Given the description of an element on the screen output the (x, y) to click on. 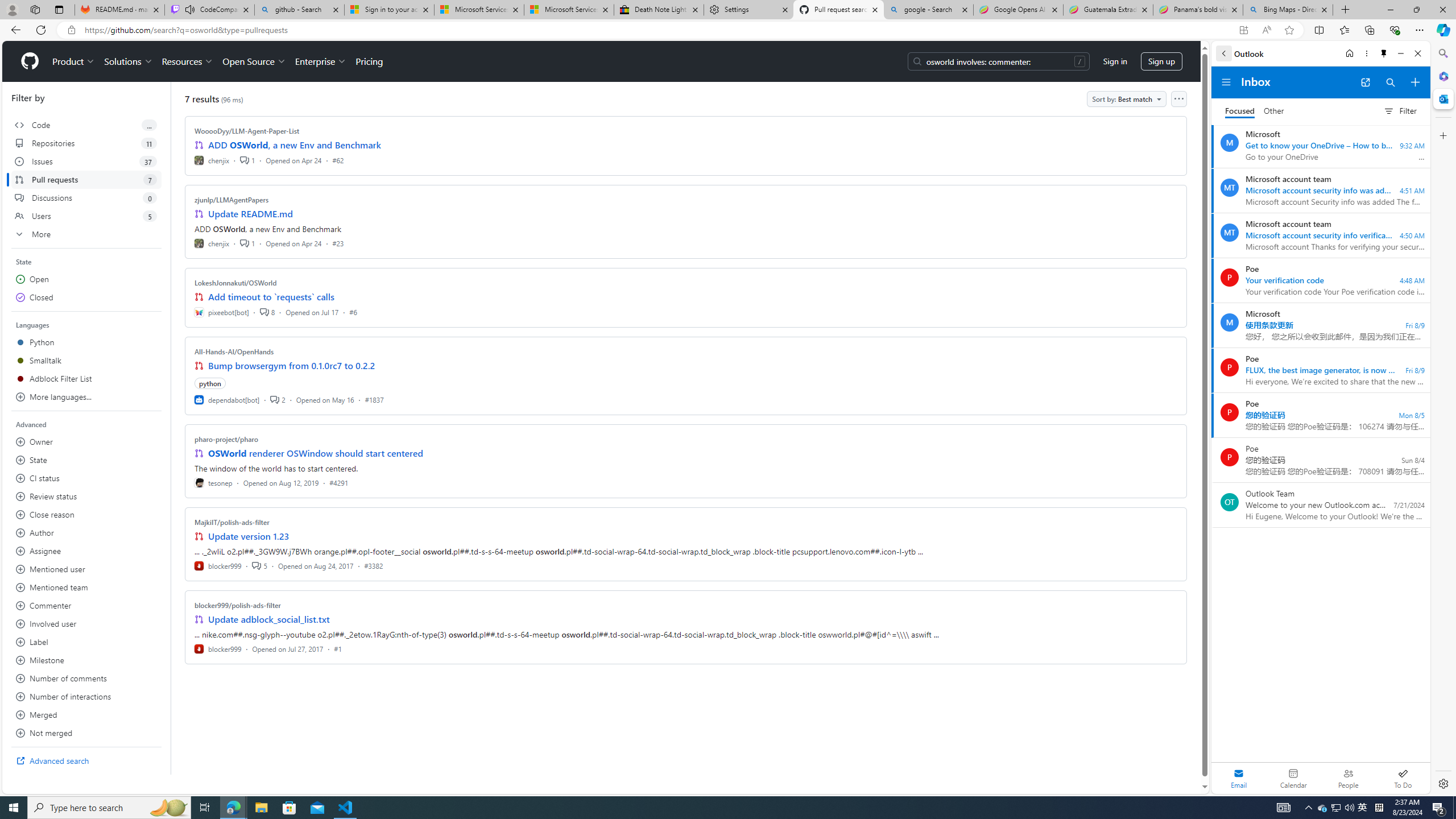
More languages... (86, 397)
Sort by: Best match (1126, 98)
More languages... (86, 397)
github - Search (298, 9)
Draggable pane splitter (169, 427)
More (86, 234)
